Given the description of an element on the screen output the (x, y) to click on. 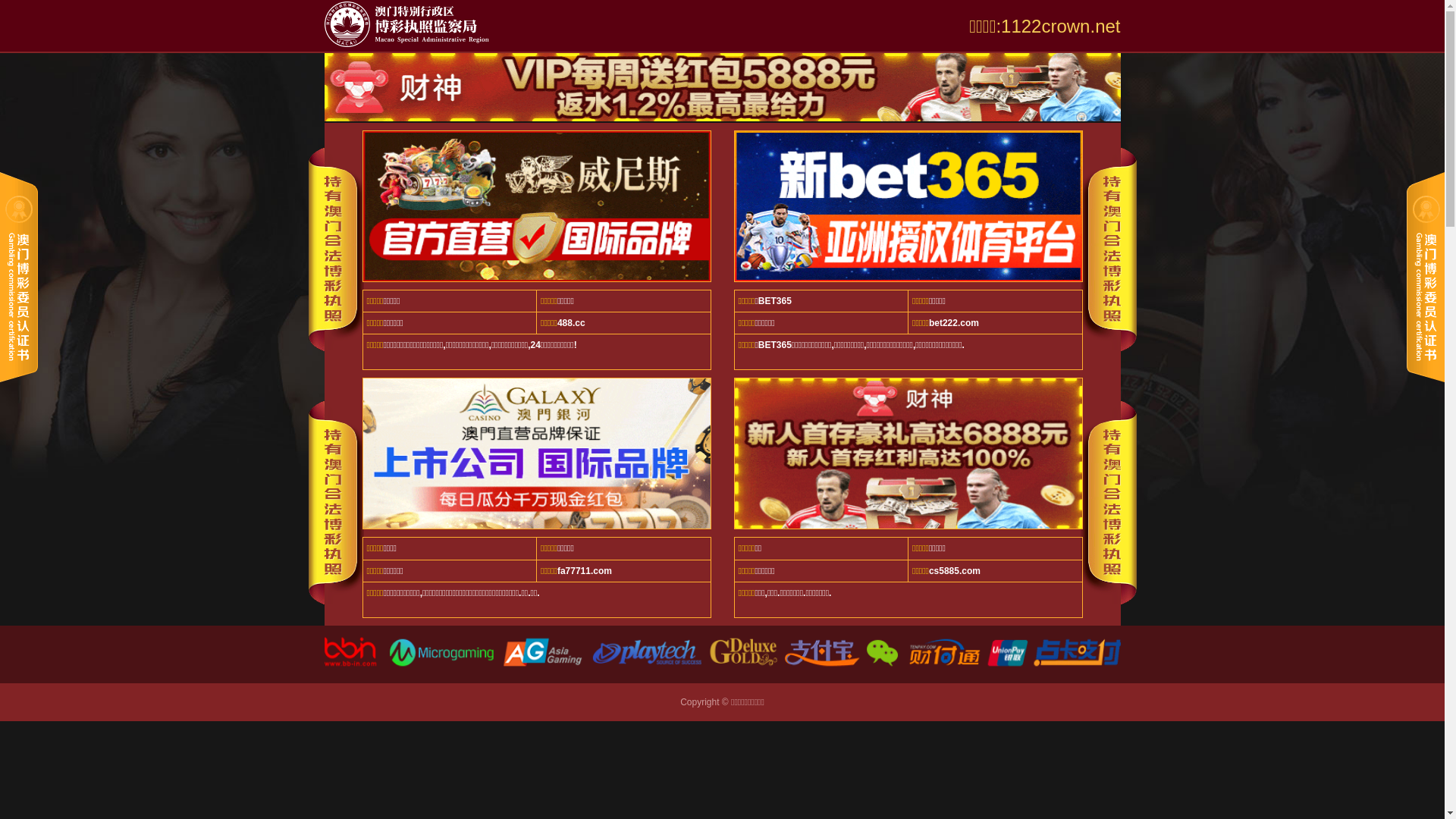
EN Element type: text (1103, 63)
